Given the description of an element on the screen output the (x, y) to click on. 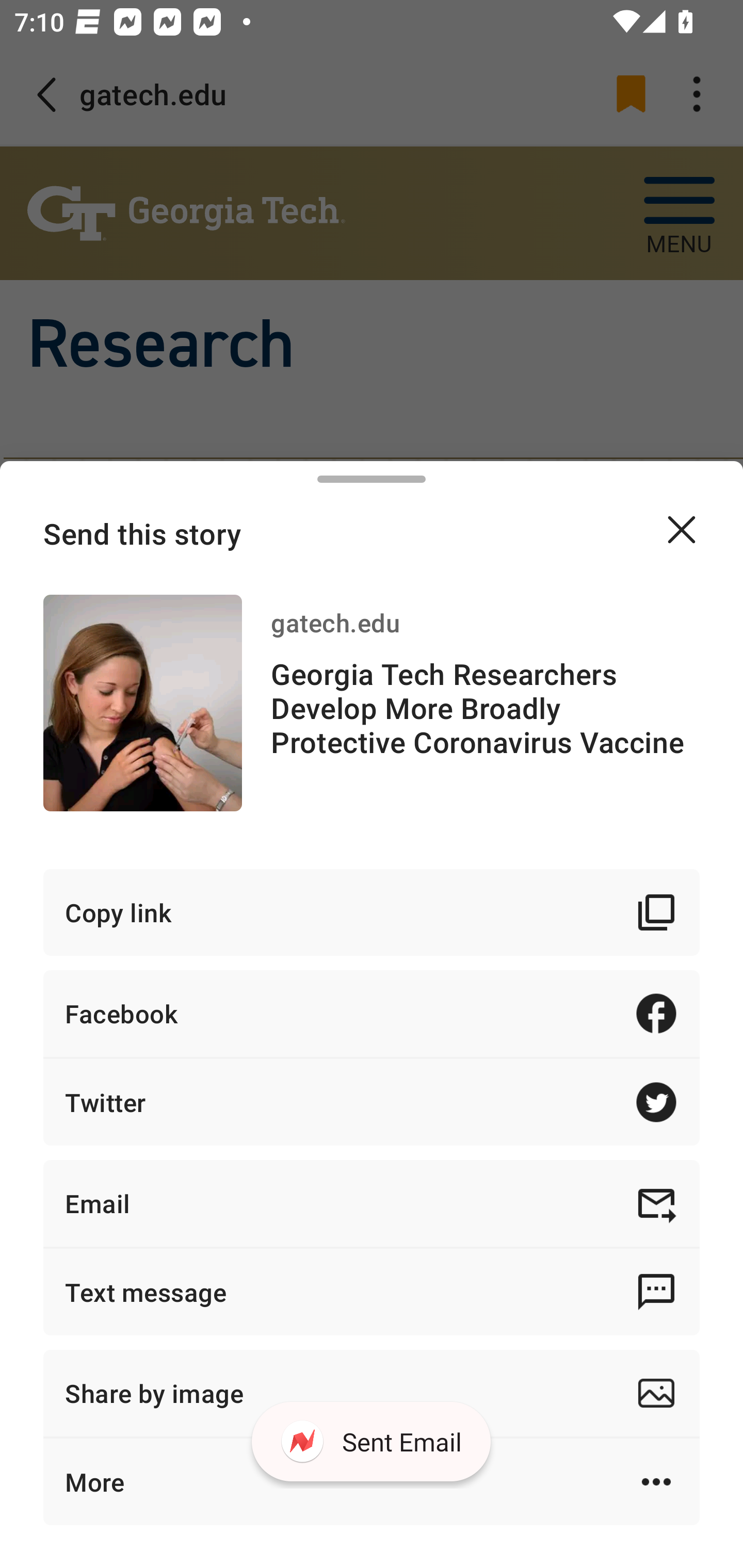
Copy link (371, 912)
Facebook (371, 1013)
Twitter (371, 1102)
Email (371, 1203)
Text message (371, 1291)
Share by image (371, 1393)
More (371, 1481)
